Given the description of an element on the screen output the (x, y) to click on. 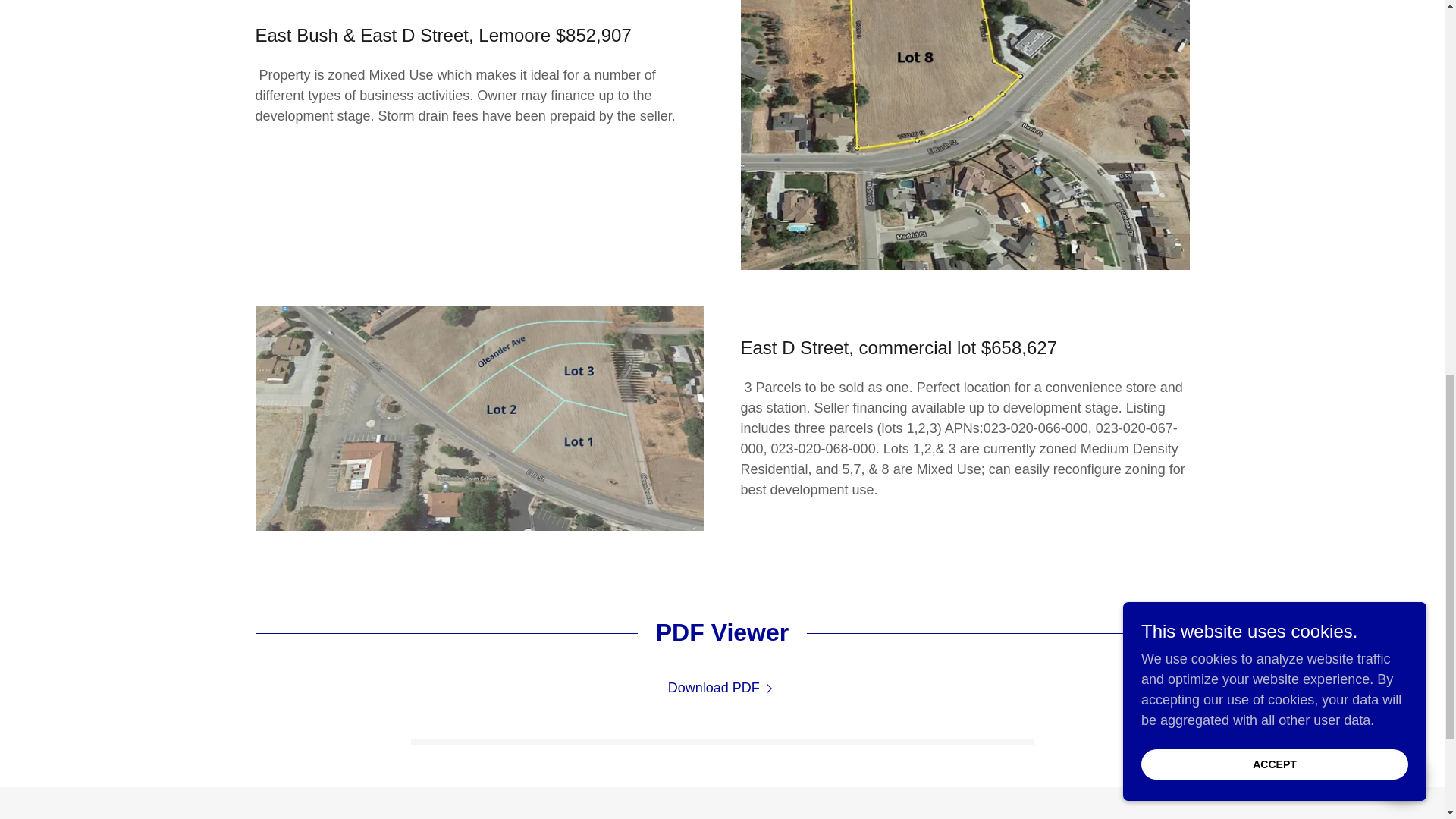
Download PDF (722, 688)
